Given the description of an element on the screen output the (x, y) to click on. 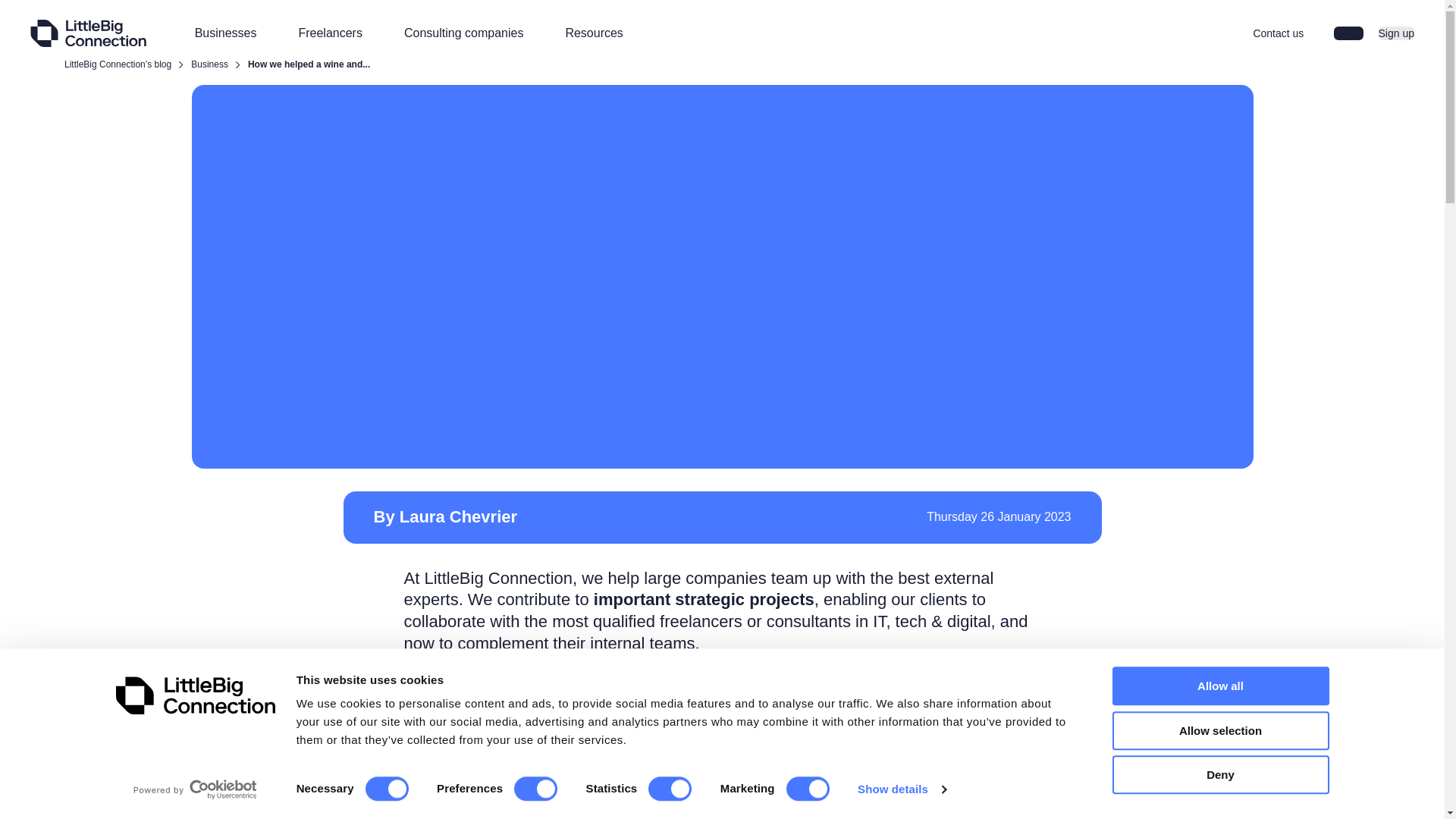
Deny (1219, 774)
Show details (900, 789)
Allow selection (1219, 730)
Allow all (1219, 685)
